Given the description of an element on the screen output the (x, y) to click on. 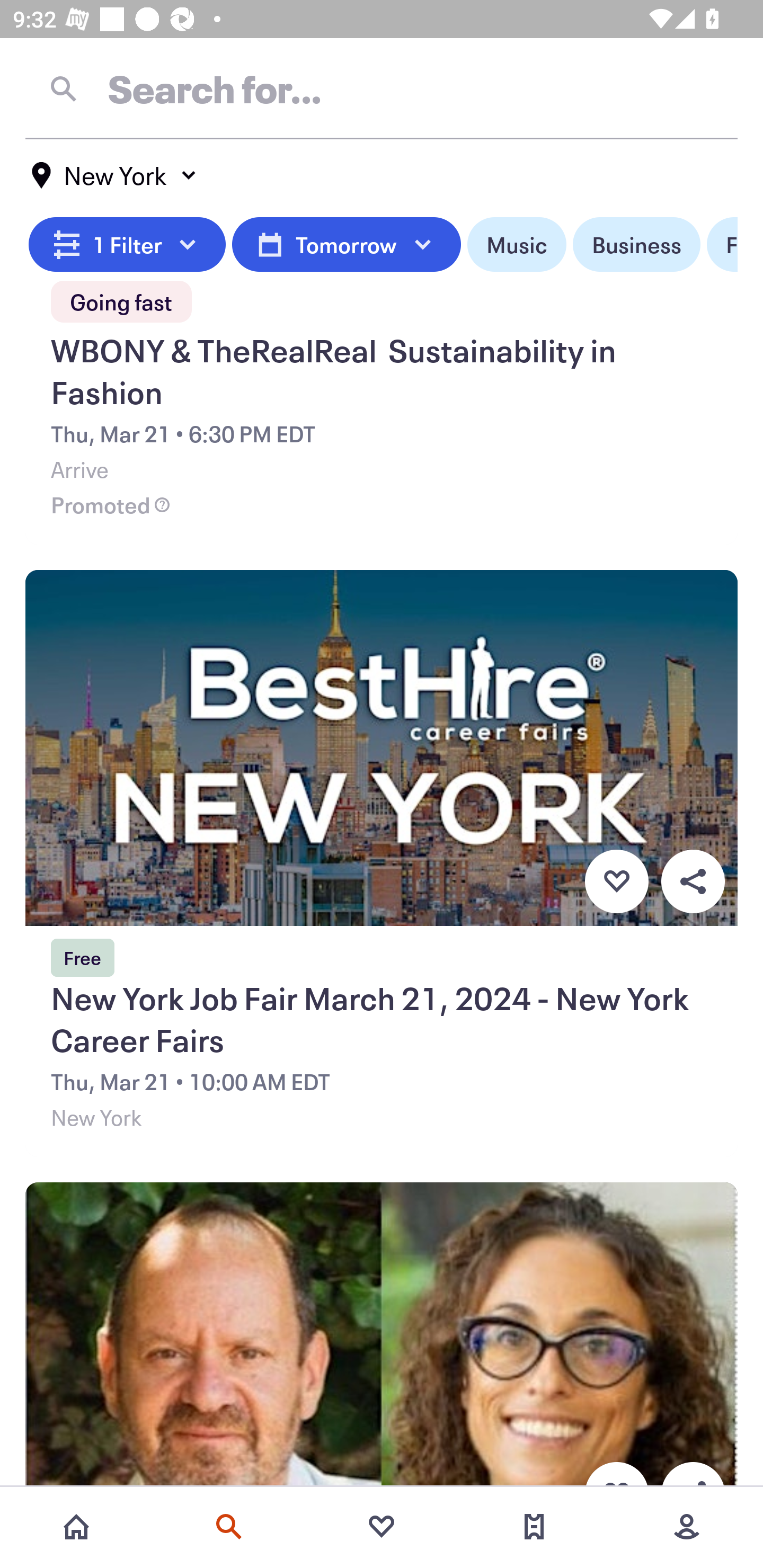
Search for… (381, 88)
New York (114, 175)
Favorite button (616, 880)
Overflow menu button (692, 880)
Event's image Favorite button Overflow menu button (381, 1336)
Home (76, 1526)
Search events (228, 1526)
Favorites (381, 1526)
Tickets (533, 1526)
More (686, 1526)
